Given the description of an element on the screen output the (x, y) to click on. 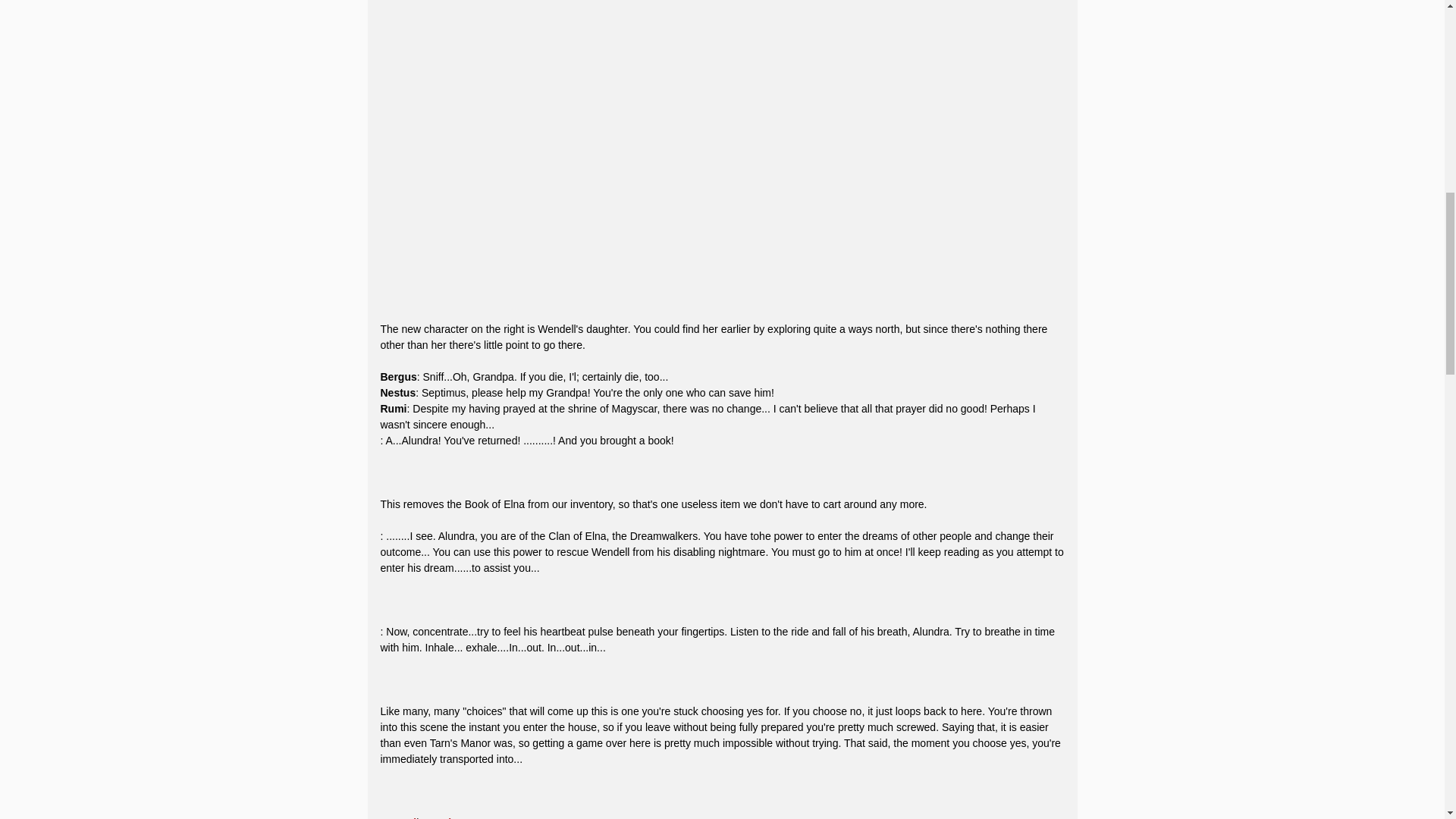
Hosted (398, 817)
Youtube (440, 817)
